Given the description of an element on the screen output the (x, y) to click on. 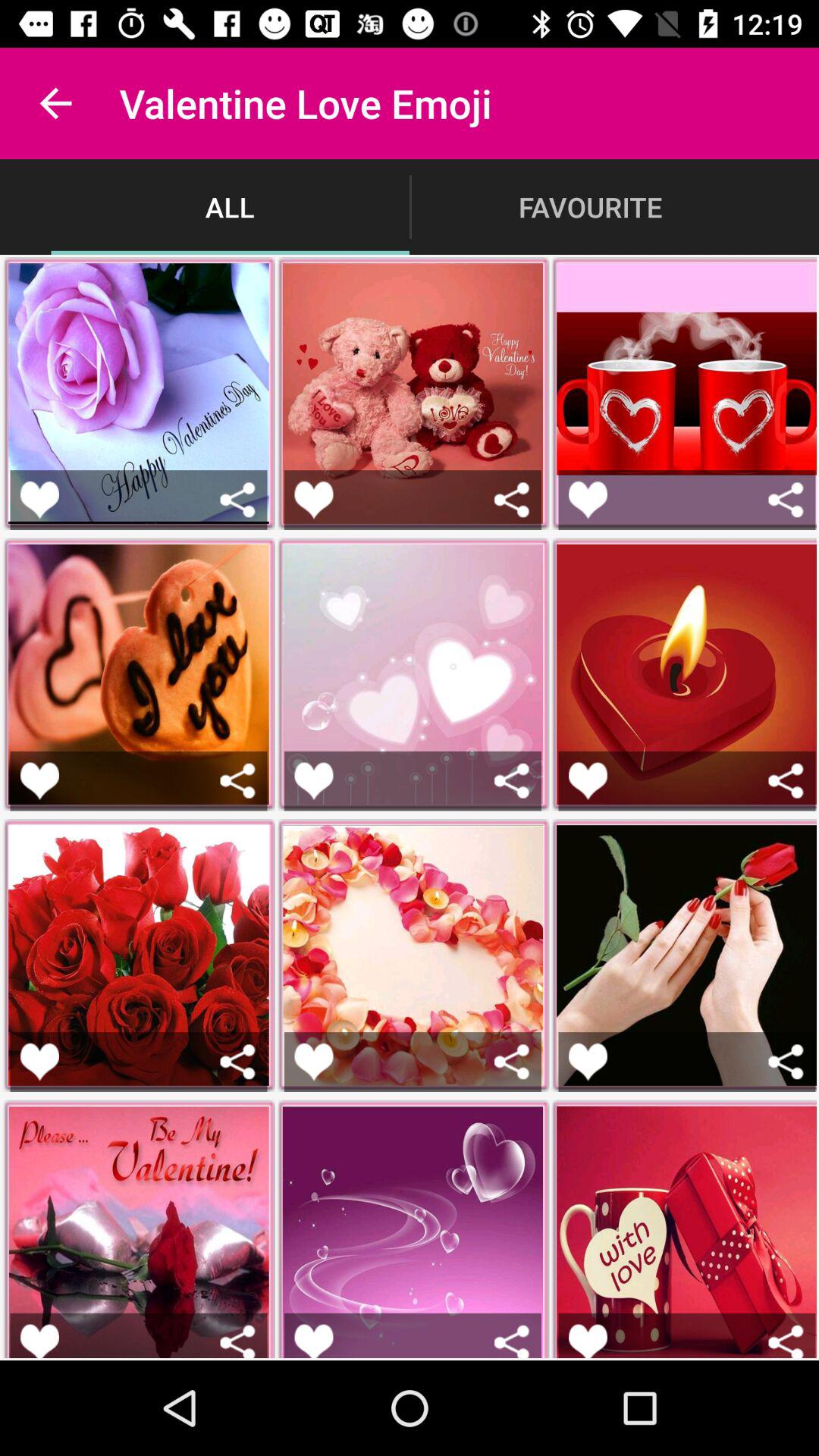
save it as favourite (313, 1340)
